Given the description of an element on the screen output the (x, y) to click on. 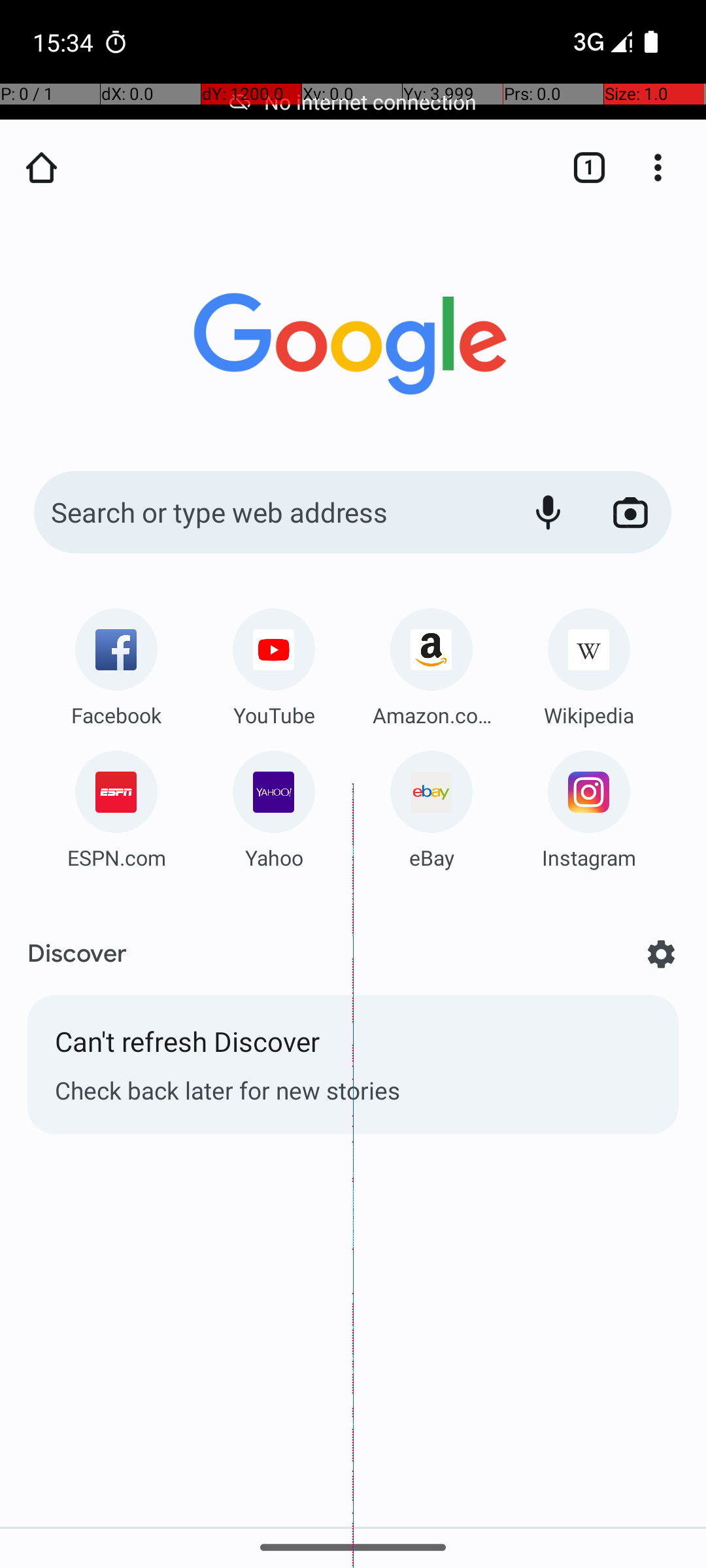
Can't refresh Discover Element type: android.widget.TextView (352, 1047)
Check back later for new stories Element type: android.widget.TextView (352, 1089)
